Given the description of an element on the screen output the (x, y) to click on. 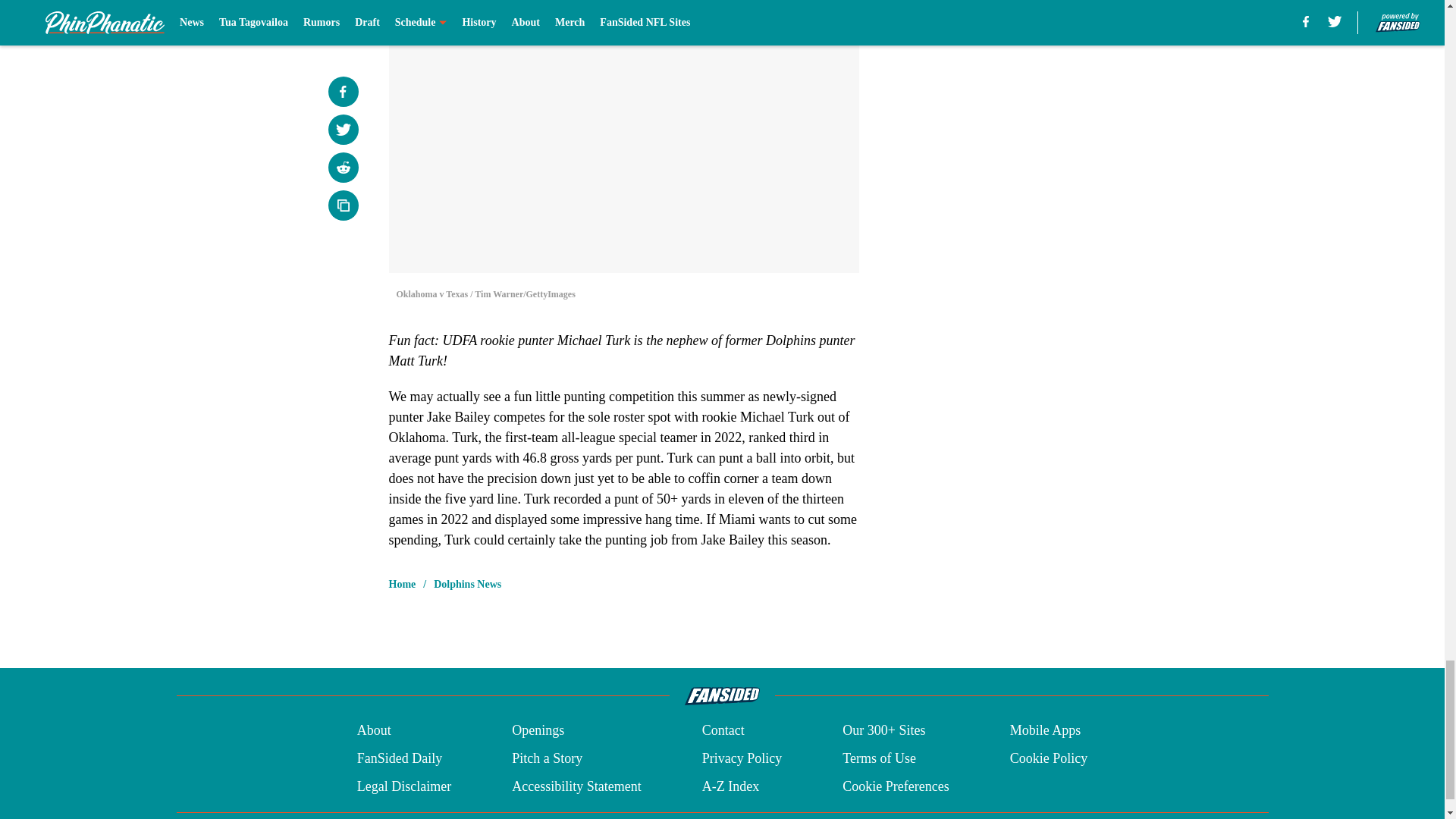
Contact (722, 730)
FanSided Daily (399, 758)
Mobile Apps (1045, 730)
Pitch a Story (547, 758)
Legal Disclaimer (403, 786)
A-Z Index (729, 786)
Cookie Preferences (896, 786)
Cookie Policy (1048, 758)
Dolphins News (466, 584)
Openings (538, 730)
